Given the description of an element on the screen output the (x, y) to click on. 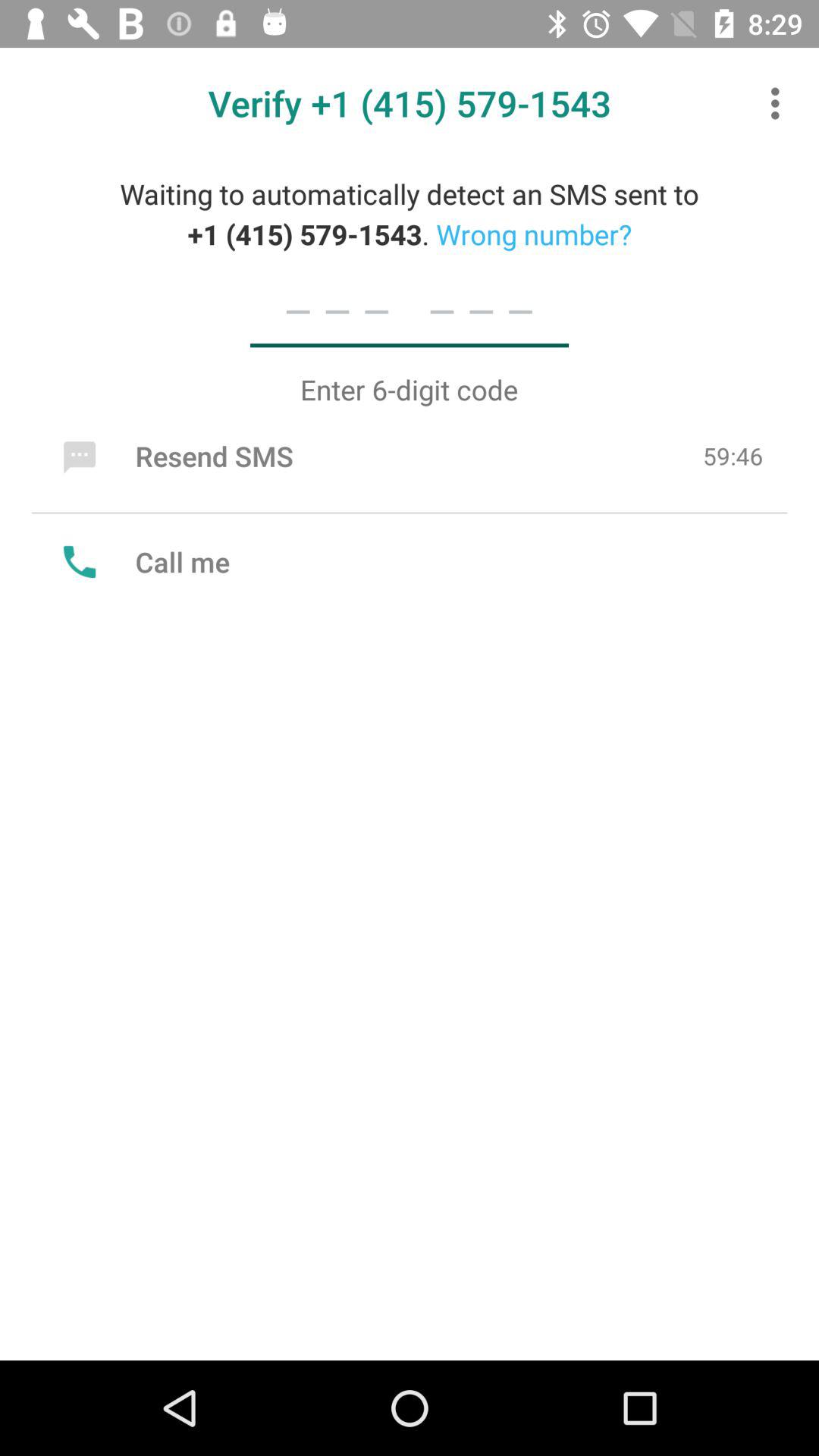
turn on icon to the left of 59:46 item (174, 455)
